Given the description of an element on the screen output the (x, y) to click on. 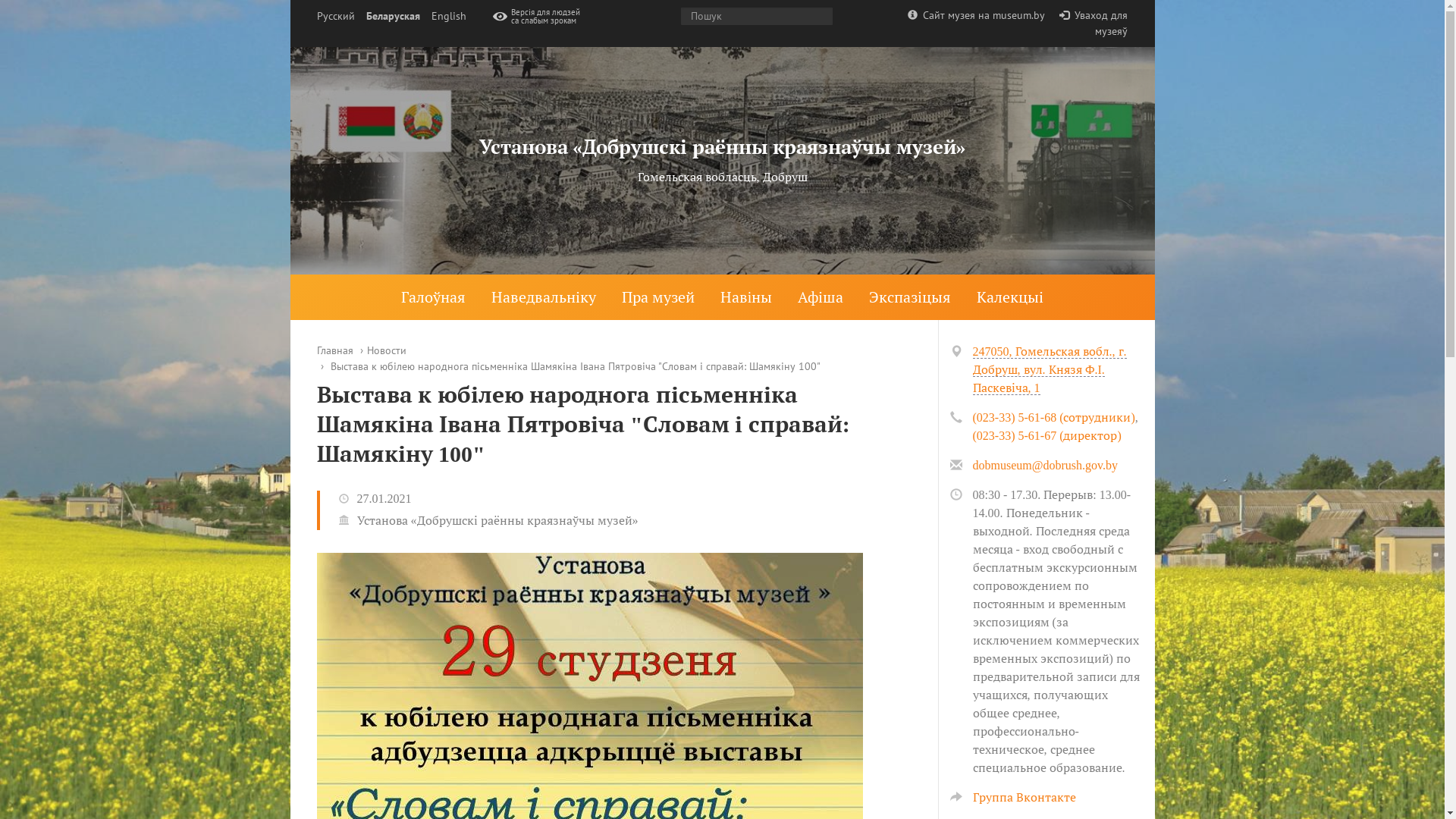
dobmuseum@dobrush.gov.by Element type: text (1044, 464)
English Element type: text (447, 16)
